Given the description of an element on the screen output the (x, y) to click on. 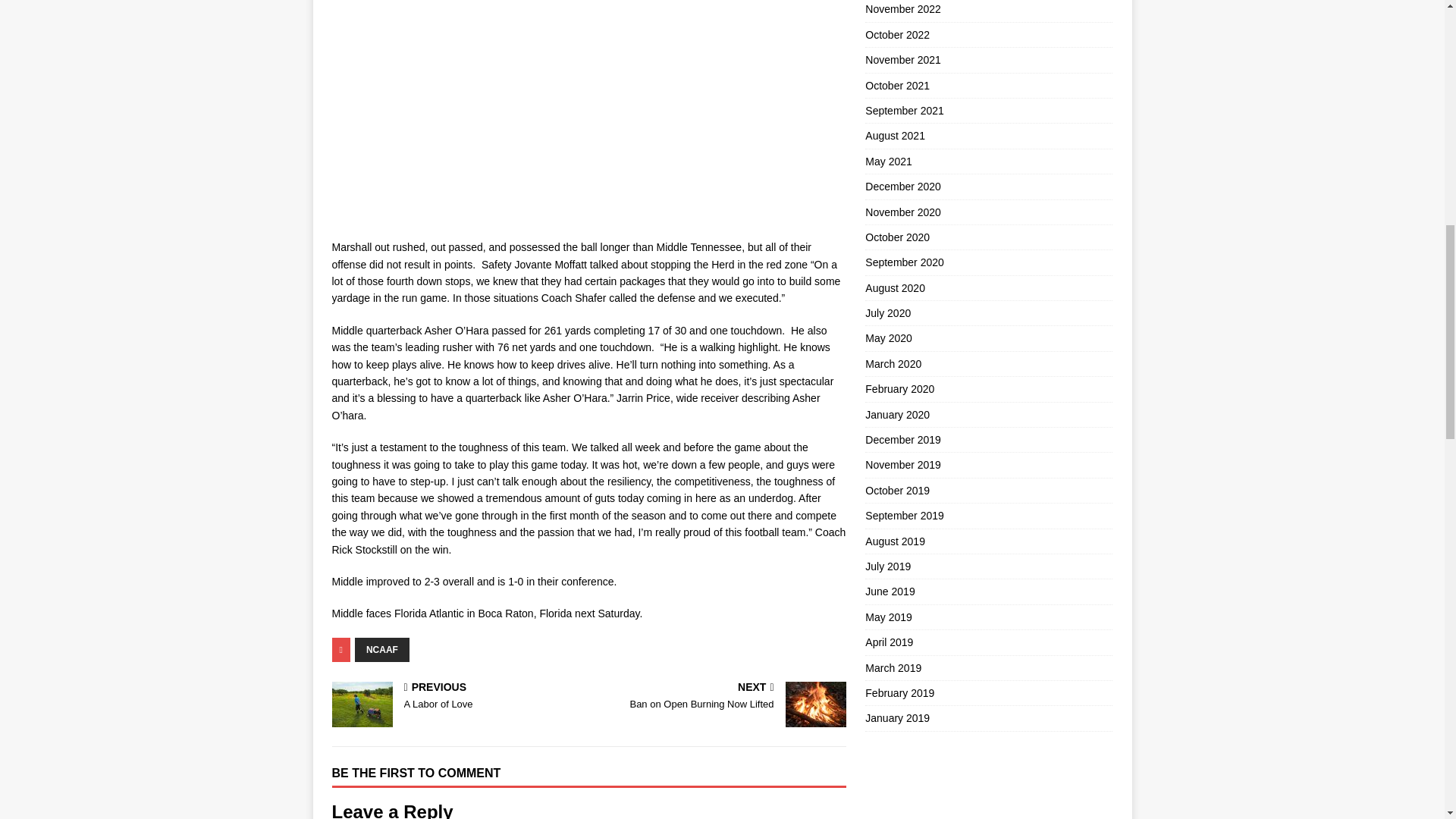
NCAAF (382, 649)
Advertisement (720, 696)
